Given the description of an element on the screen output the (x, y) to click on. 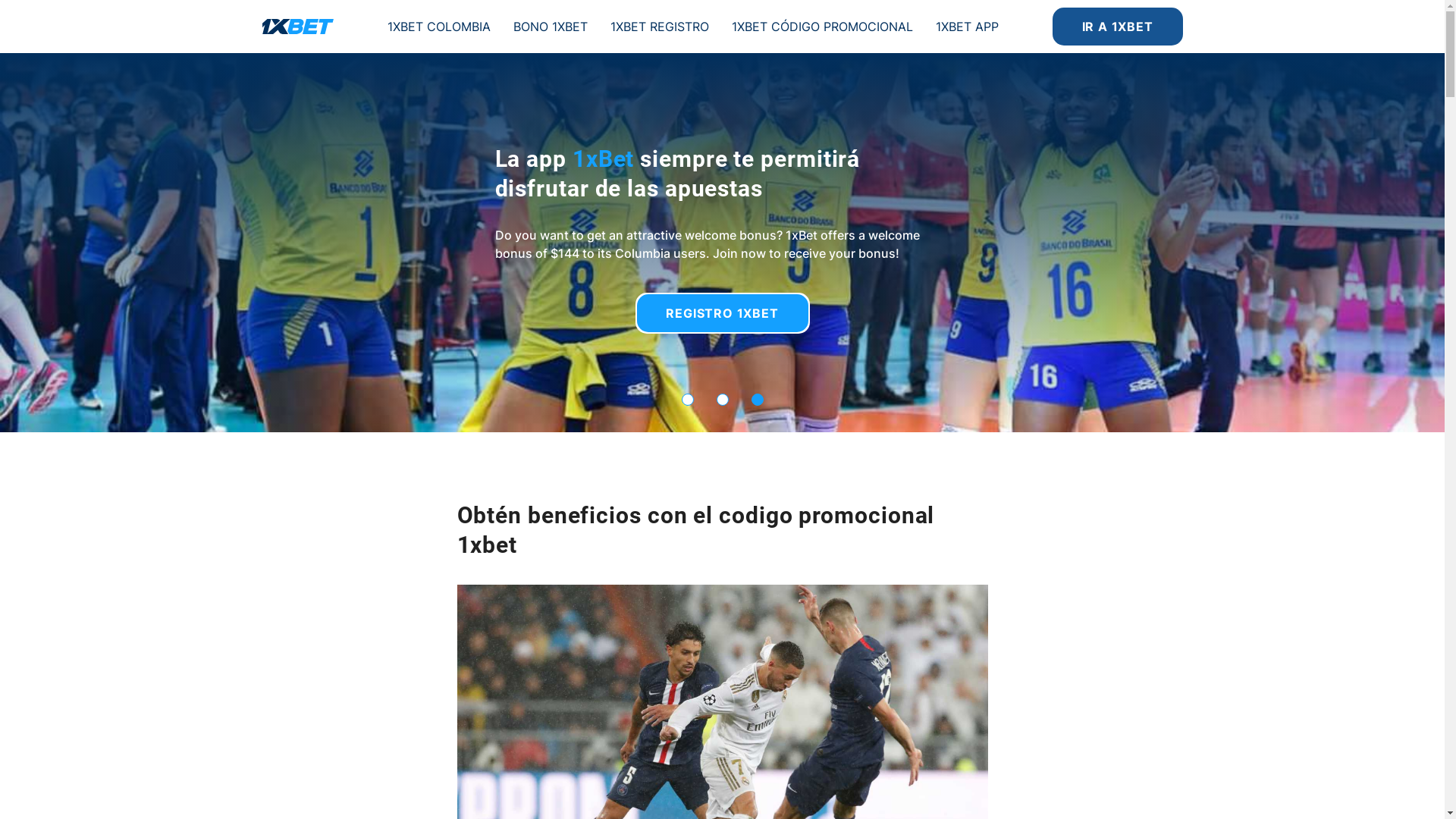
1xbet-colombia.com Element type: hover (297, 26)
1XBET APP Element type: text (966, 25)
REGISTRO 1XBET Element type: text (722, 312)
1XBET REGISTRO Element type: text (658, 25)
IR A 1XBET Element type: text (1117, 26)
1XBET COLOMBIA Element type: text (437, 25)
BONO 1XBET Element type: text (549, 25)
